Given the description of an element on the screen output the (x, y) to click on. 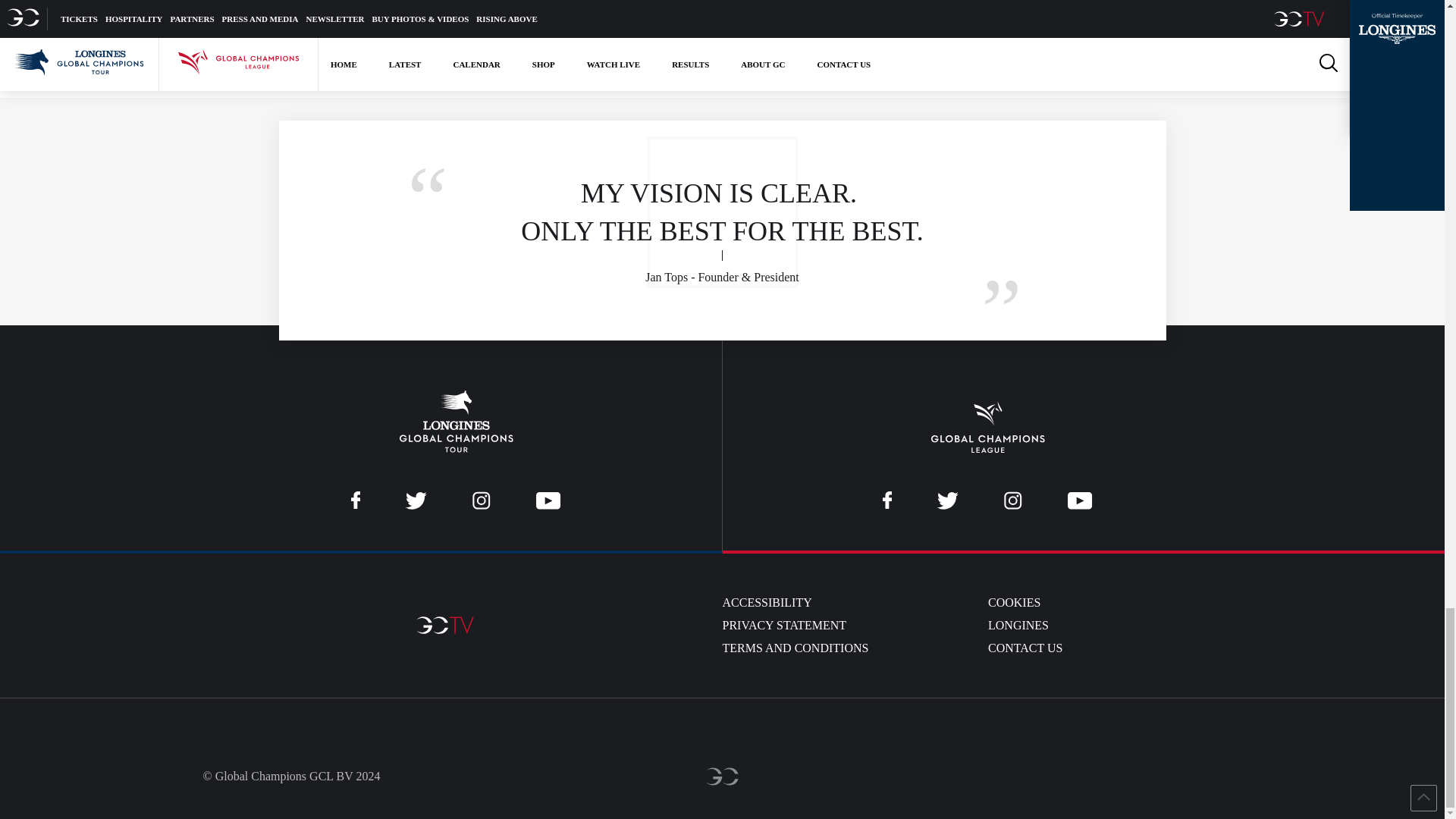
GCTV (445, 625)
TERMS AND CONDITIONS (794, 648)
ACCESSIBILITY (766, 602)
COOKIES (1014, 602)
PRIVACY STATEMENT (783, 625)
WATCH LIVE (411, 9)
